Given the description of an element on the screen output the (x, y) to click on. 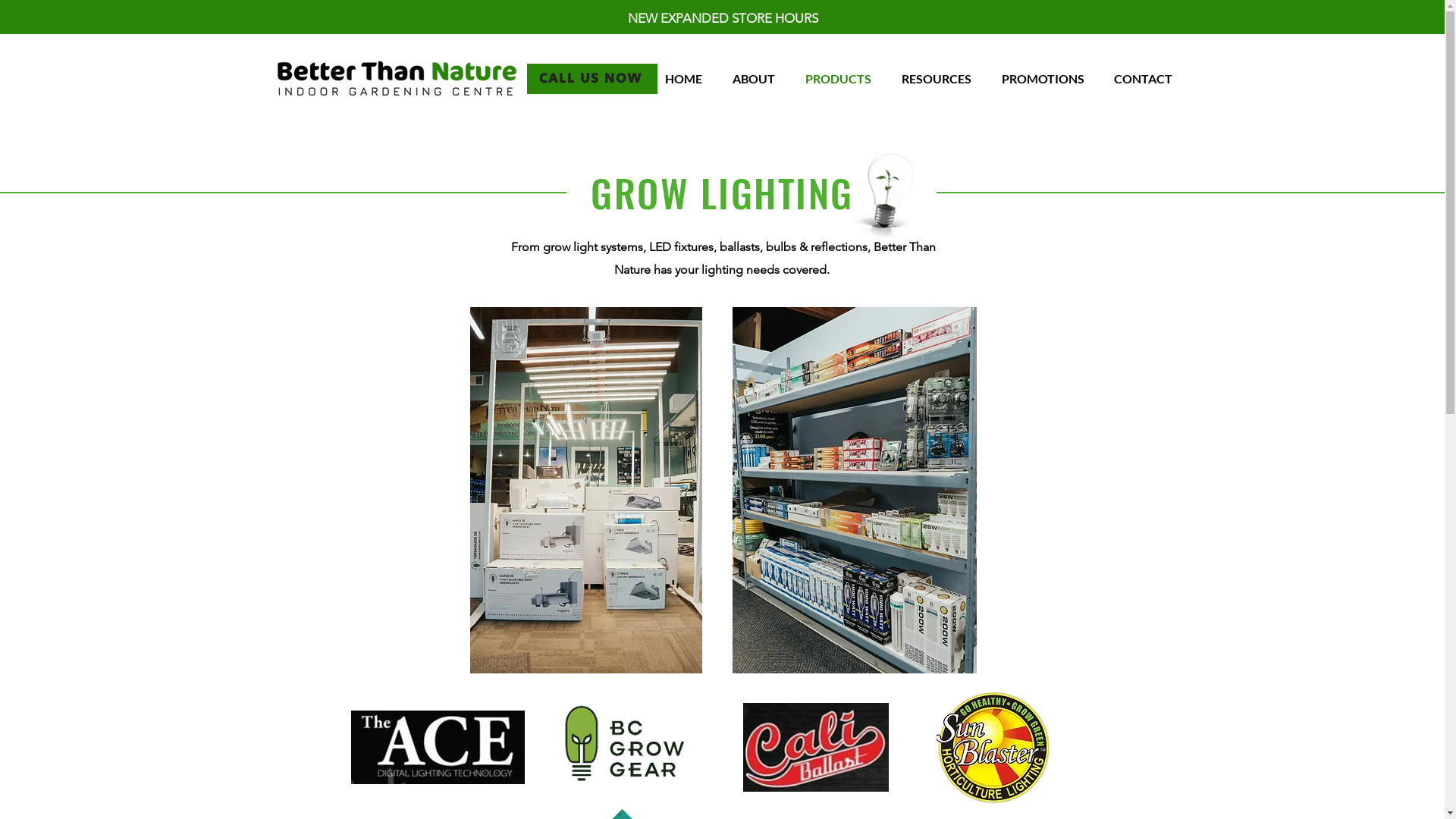
PRODUCTS Element type: text (845, 78)
ABOUT Element type: text (760, 78)
PROMOTIONS Element type: text (1049, 78)
TWIPLA (Visitor Analytics) Element type: hover (1442, 4)
HOME Element type: text (690, 78)
CONTACT Element type: text (1149, 78)
RESOURCES Element type: text (943, 78)
CALL US NOW Element type: text (591, 78)
